Given the description of an element on the screen output the (x, y) to click on. 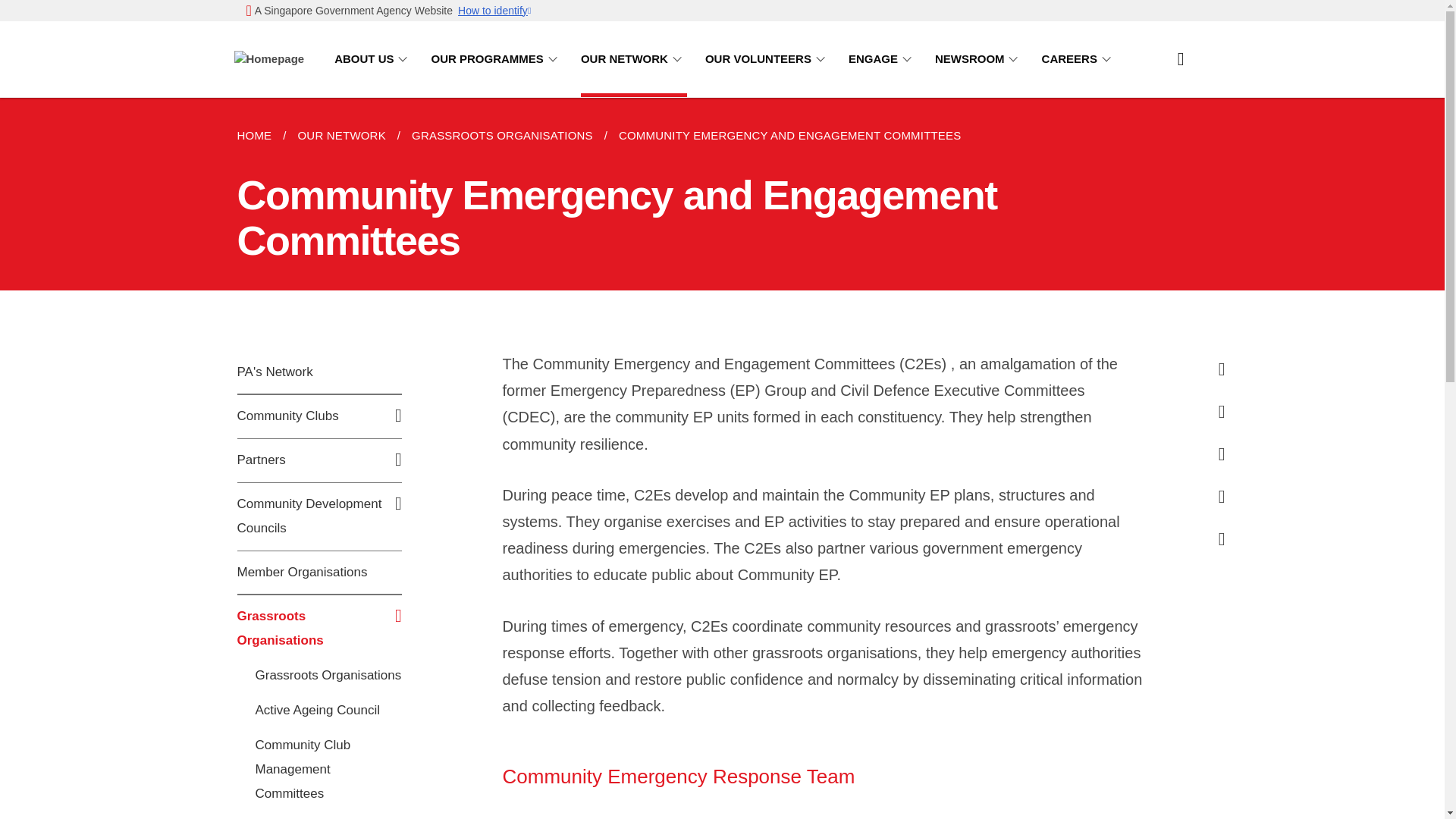
OUR NETWORK (633, 59)
OUR PROGRAMMES (496, 59)
ABOUT US (373, 59)
